Given the description of an element on the screen output the (x, y) to click on. 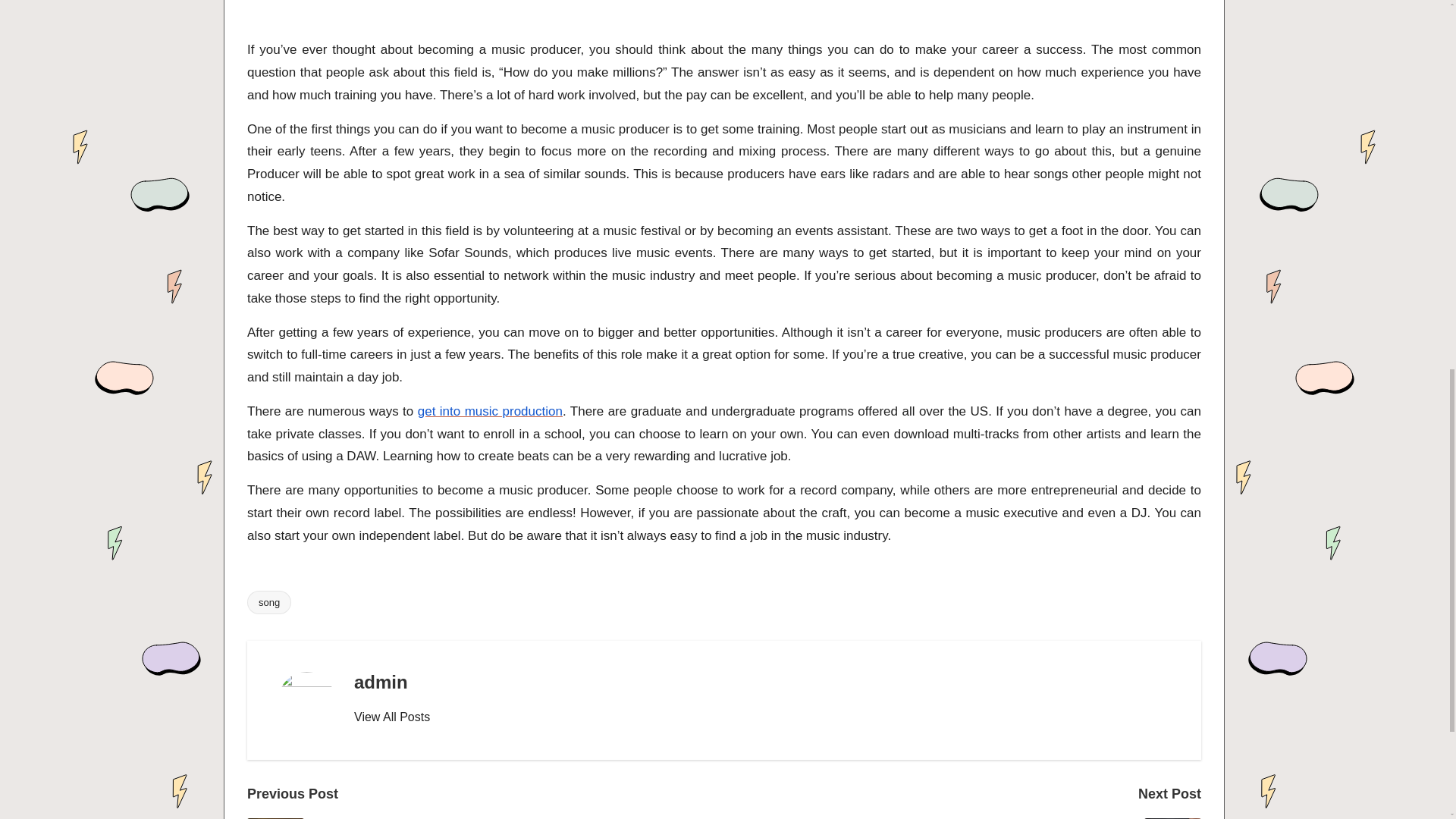
song (269, 602)
get into music production (489, 411)
View All Posts (391, 717)
admin (380, 681)
